Given the description of an element on the screen output the (x, y) to click on. 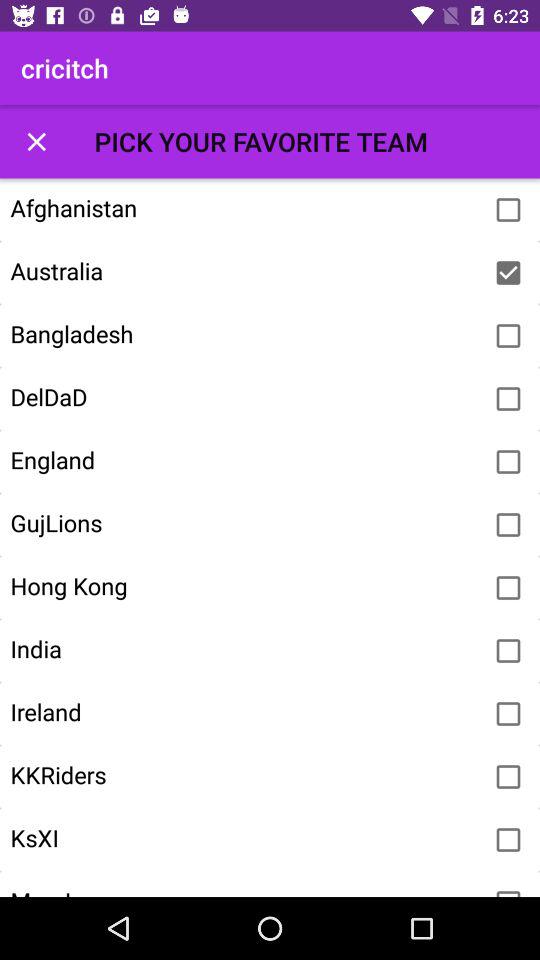
close this box (36, 141)
